Given the description of an element on the screen output the (x, y) to click on. 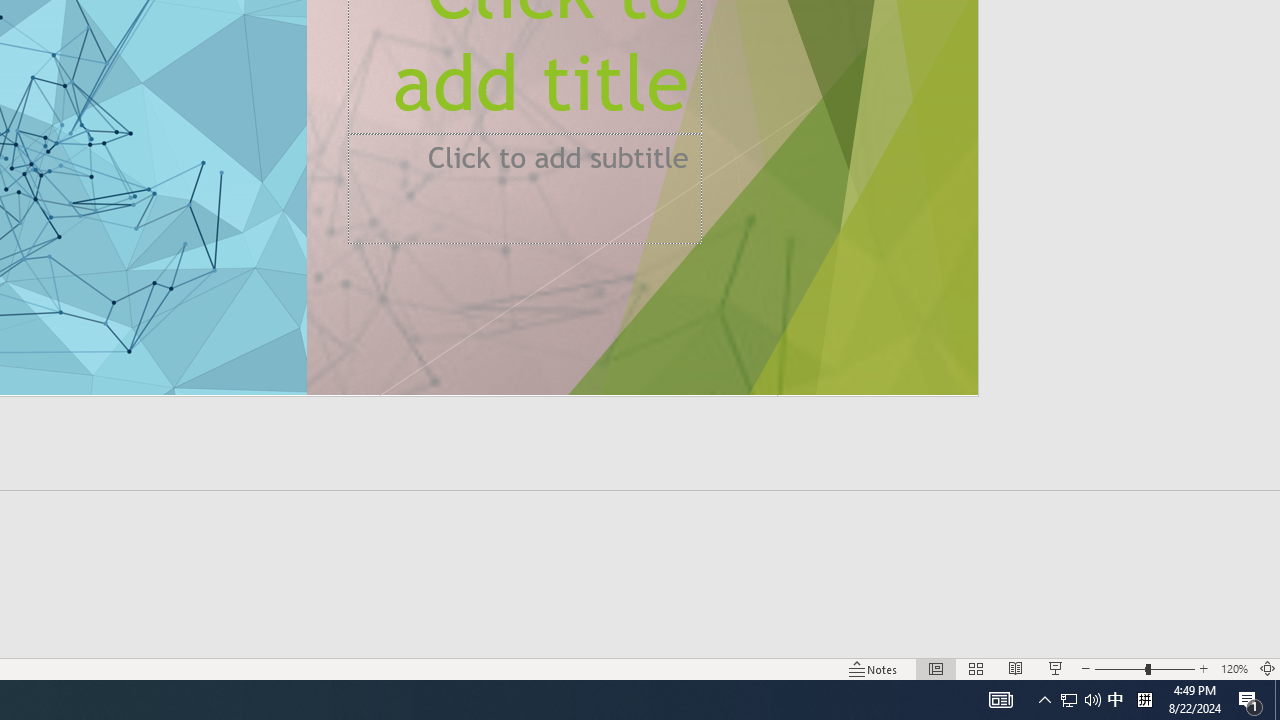
Notes  (874, 668)
Zoom 120% (1234, 668)
